Given the description of an element on the screen output the (x, y) to click on. 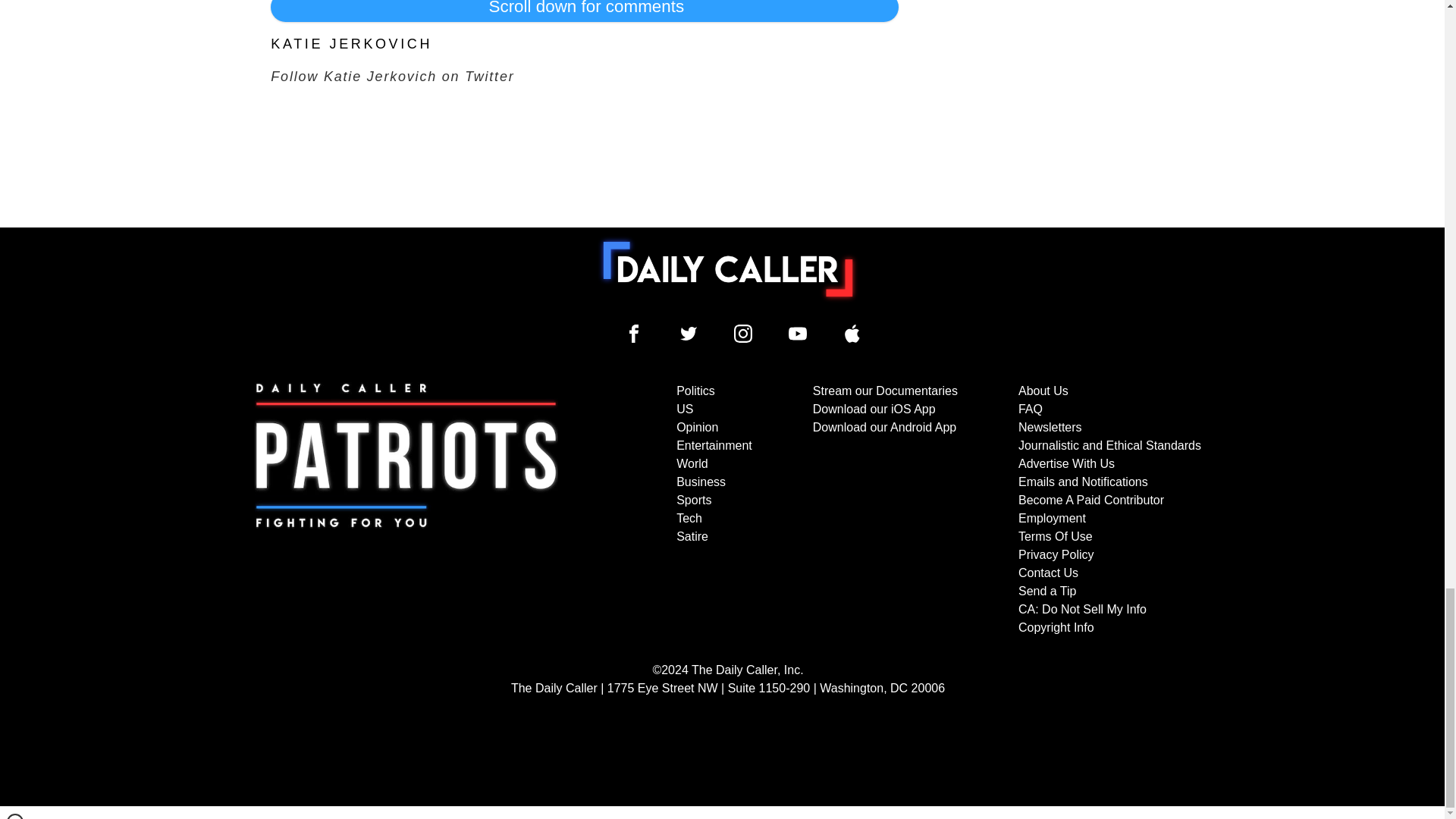
Subscribe to The Daily Caller (405, 509)
Daily Caller Facebook (633, 333)
Scroll down for comments (584, 10)
To home page (727, 268)
Daily Caller YouTube (797, 333)
Daily Caller Instagram (742, 333)
Daily Caller YouTube (852, 333)
Daily Caller Twitter (688, 333)
